Given the description of an element on the screen output the (x, y) to click on. 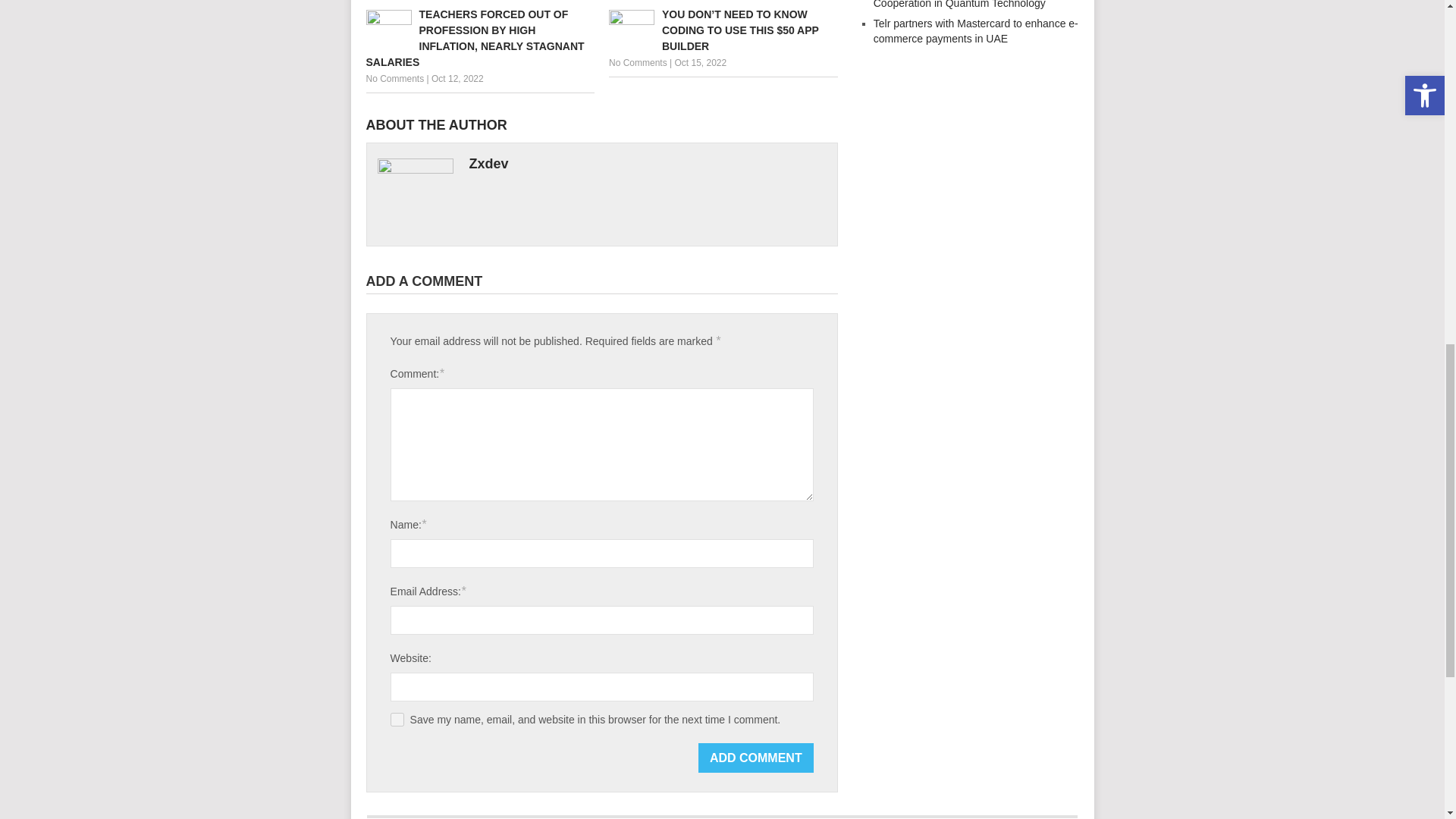
No Comments (394, 78)
yes (397, 719)
Add Comment (755, 757)
No Comments (637, 62)
Add Comment (755, 757)
